Given the description of an element on the screen output the (x, y) to click on. 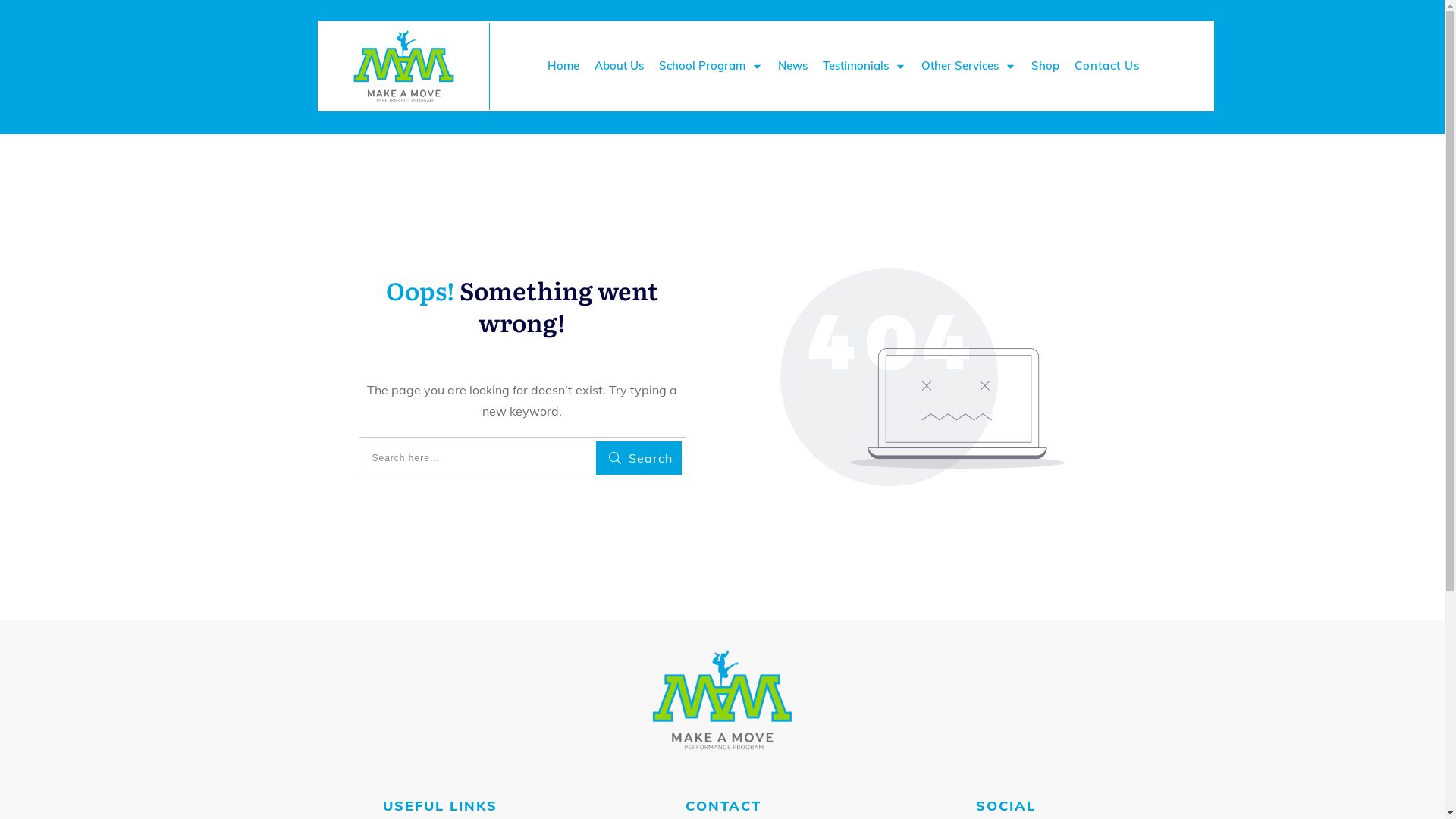
Shop Element type: text (1045, 65)
School Program Element type: text (710, 65)
News Element type: text (792, 65)
Home Element type: text (563, 65)
Contact Us Element type: text (1106, 65)
Testimonials Element type: text (864, 65)
Search Element type: text (638, 457)
Other Services Element type: text (968, 65)
404 Element type: hover (922, 377)
About Us Element type: text (618, 65)
